Given the description of an element on the screen output the (x, y) to click on. 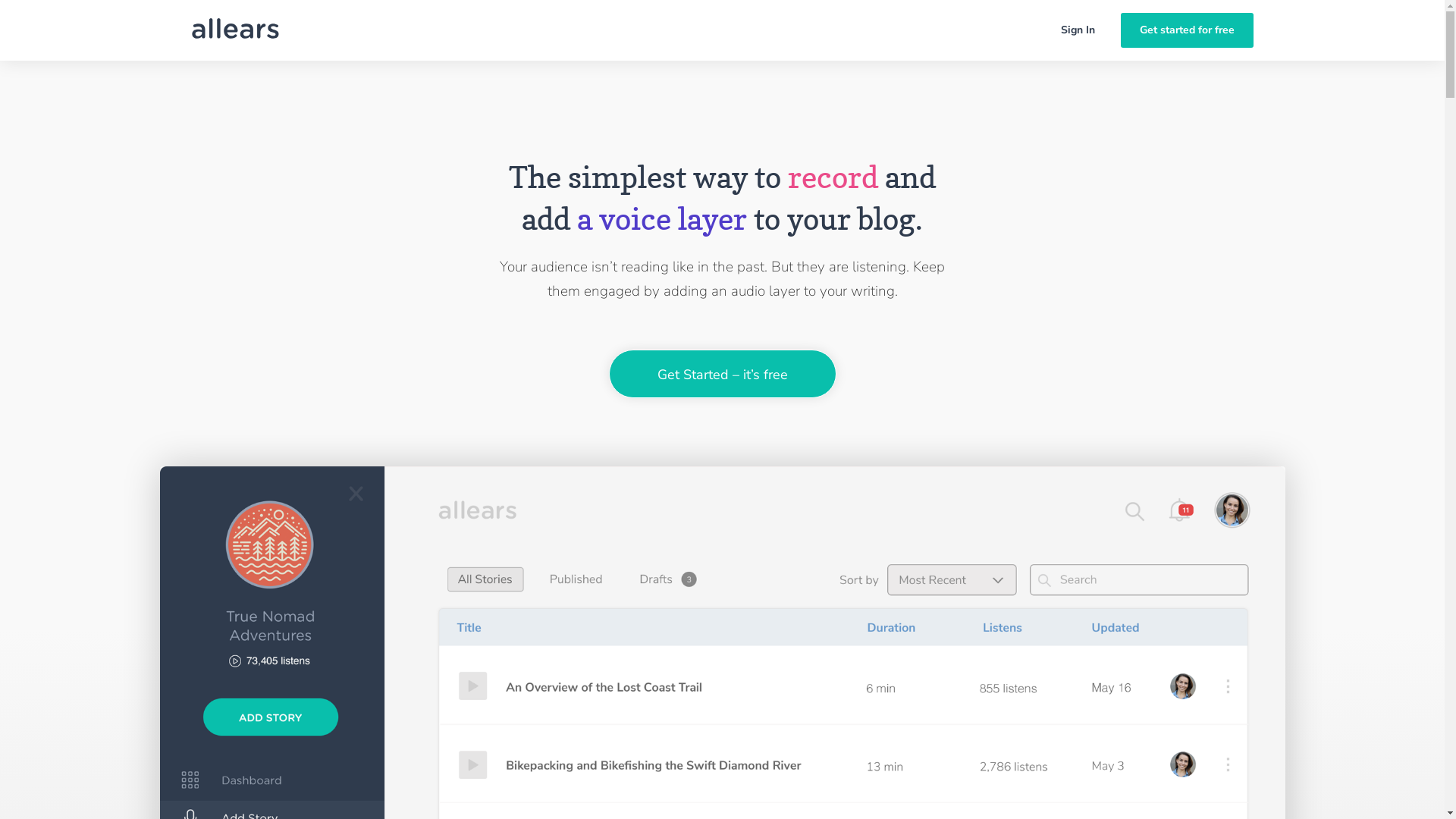
AllEars Element type: hover (234, 29)
Sign In Element type: text (1077, 29)
Get started for free Element type: text (1186, 29)
